Given the description of an element on the screen output the (x, y) to click on. 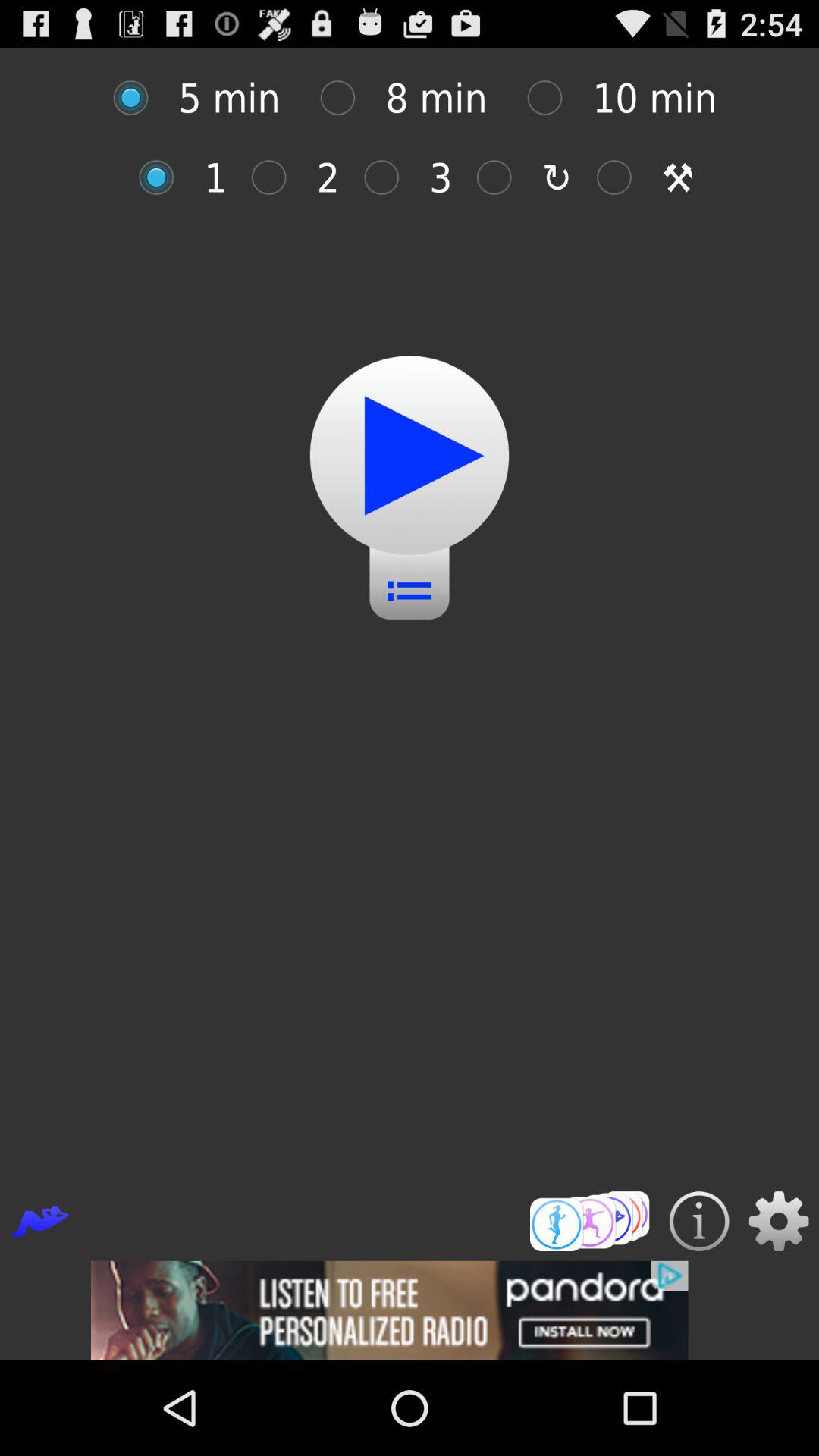
click to details (699, 1221)
